Given the description of an element on the screen output the (x, y) to click on. 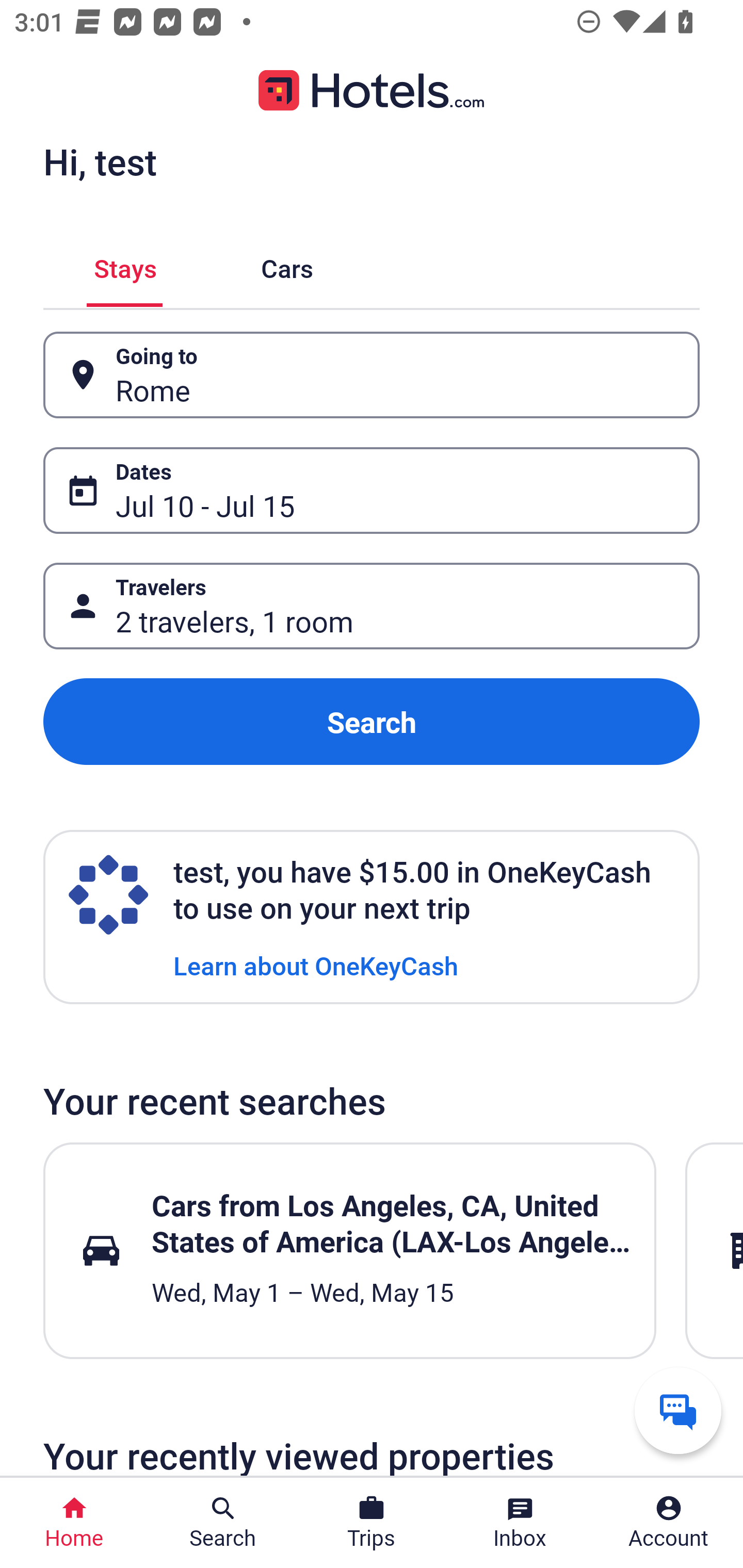
Hi, test (99, 161)
Cars (286, 265)
Going to Button Rome (371, 375)
Dates Button Jul 10 - Jul 15 (371, 489)
Travelers Button 2 travelers, 1 room (371, 605)
Search (371, 721)
Learn about OneKeyCash Learn about OneKeyCash Link (315, 964)
Get help from a virtual agent (677, 1410)
Search Search Button (222, 1522)
Trips Trips Button (371, 1522)
Inbox Inbox Button (519, 1522)
Account Profile. Button (668, 1522)
